Given the description of an element on the screen output the (x, y) to click on. 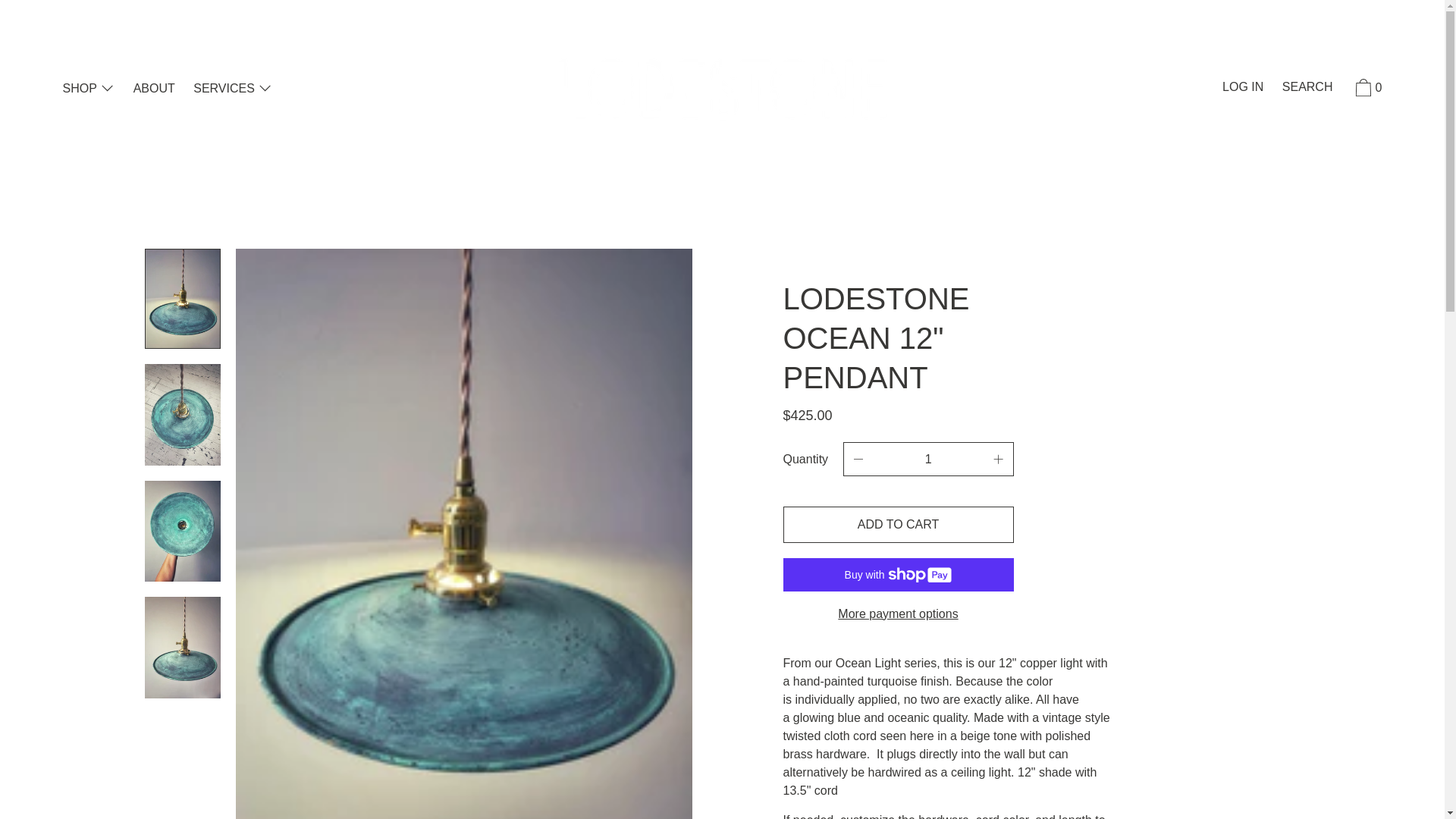
SHOP (88, 89)
0 (1366, 90)
LOG IN (1242, 87)
SEARCH (1307, 87)
SERVICES (232, 89)
ABOUT (154, 89)
1 (927, 459)
